Given the description of an element on the screen output the (x, y) to click on. 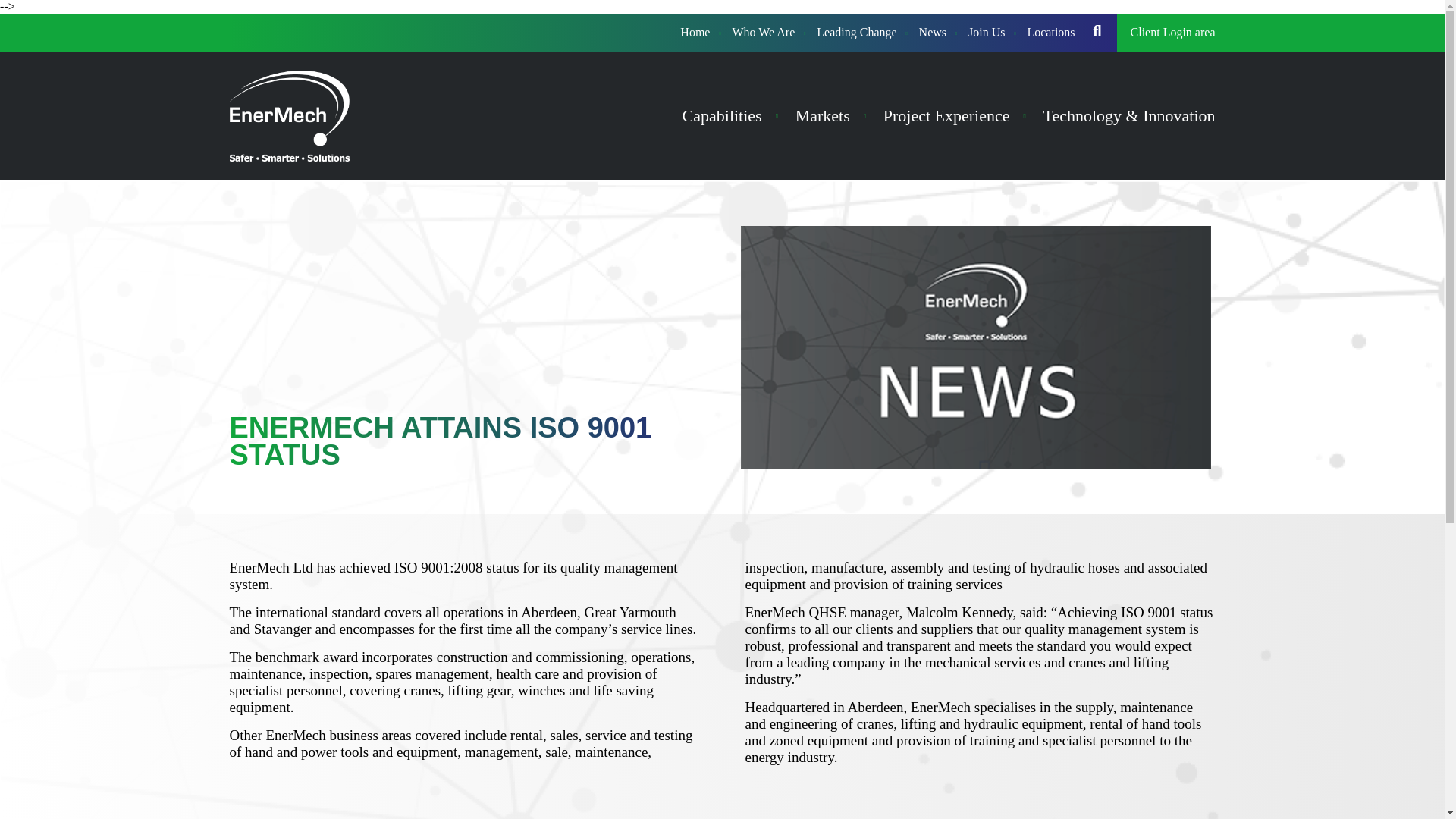
Locations (1050, 32)
Who We Are (763, 32)
Markets (822, 115)
Leading Change (856, 32)
Join Us (986, 32)
Project Experience (946, 115)
Capabilities (721, 115)
Client Login area (1173, 31)
